Given the description of an element on the screen output the (x, y) to click on. 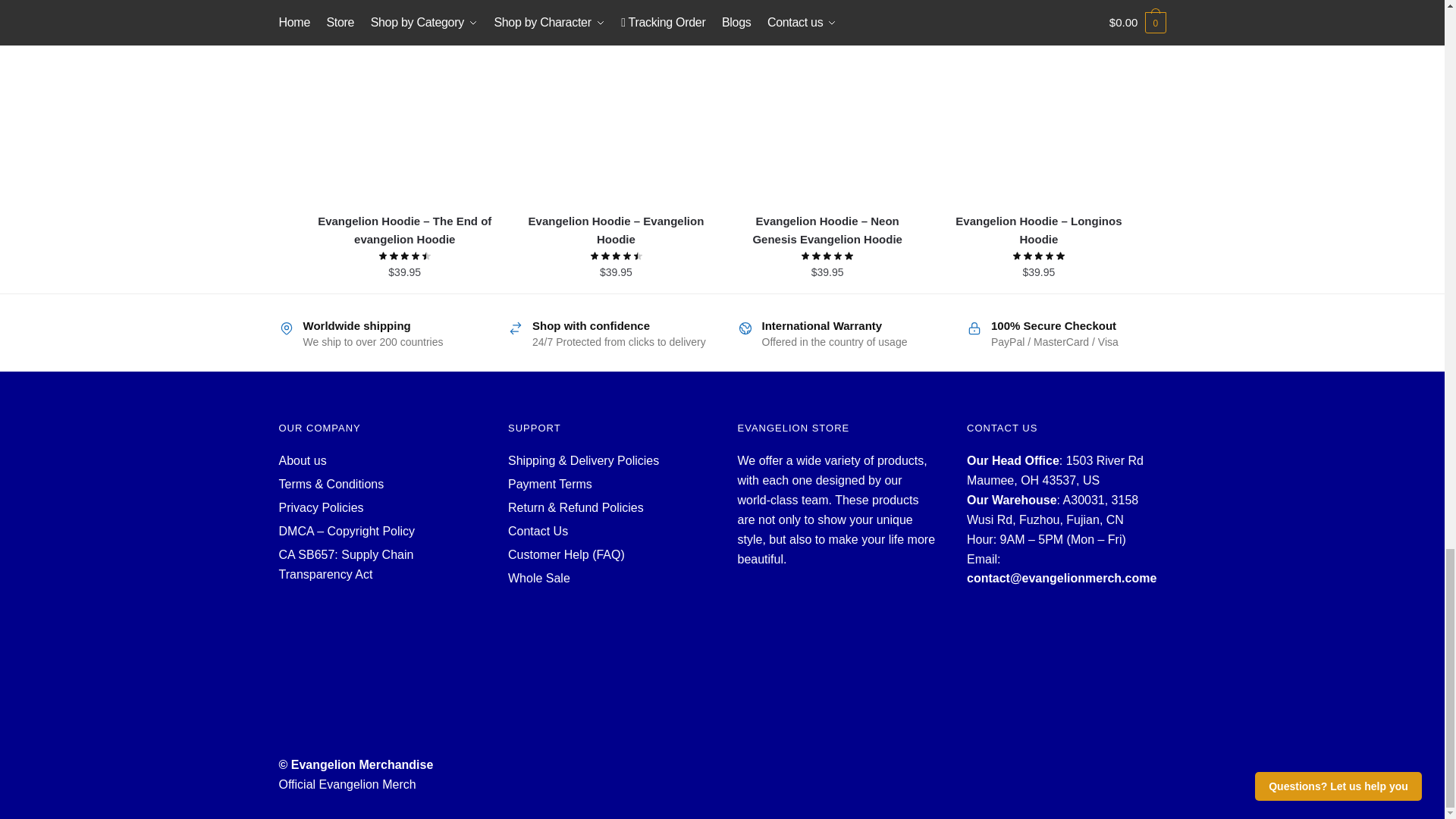
DMCA.com Protection Status (379, 644)
